Given the description of an element on the screen output the (x, y) to click on. 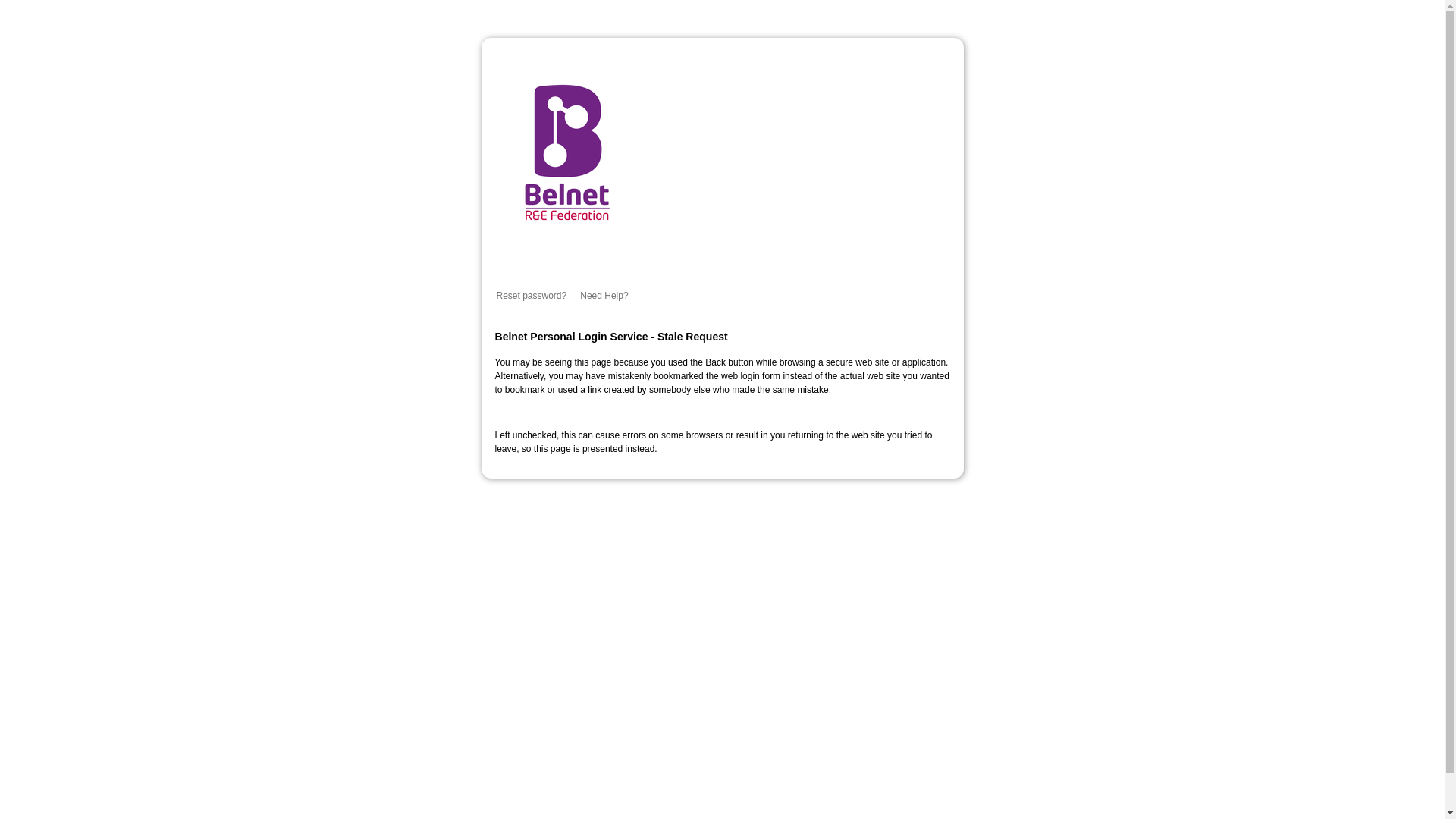
Reset password? Element type: text (530, 295)
Need Help? Element type: text (603, 295)
